Given the description of an element on the screen output the (x, y) to click on. 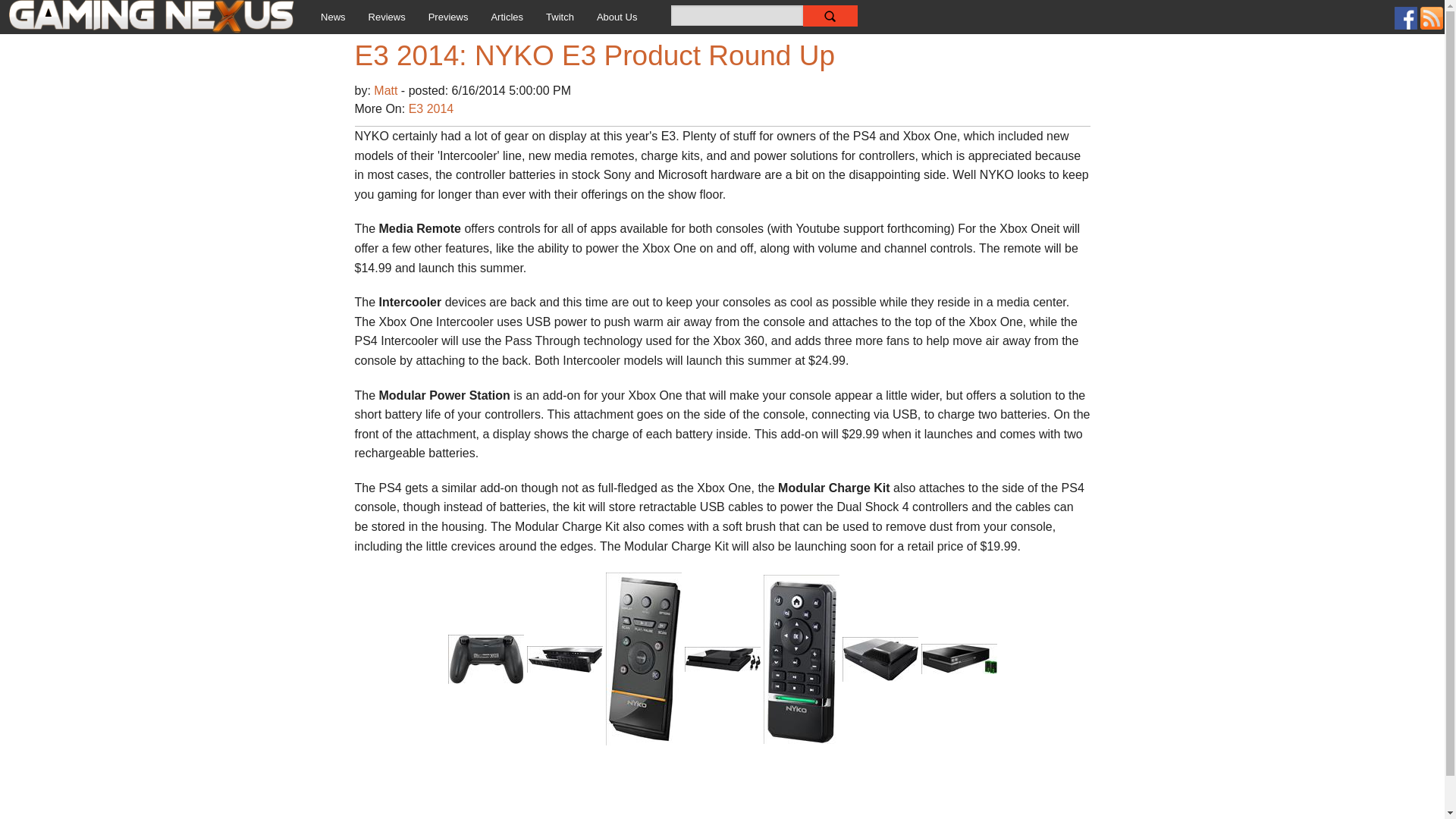
Articles (506, 17)
E3 2014 (431, 108)
News (332, 17)
Twitch (559, 17)
About Us (616, 17)
Reviews (386, 17)
Previews (448, 17)
Matt (387, 90)
